Given the description of an element on the screen output the (x, y) to click on. 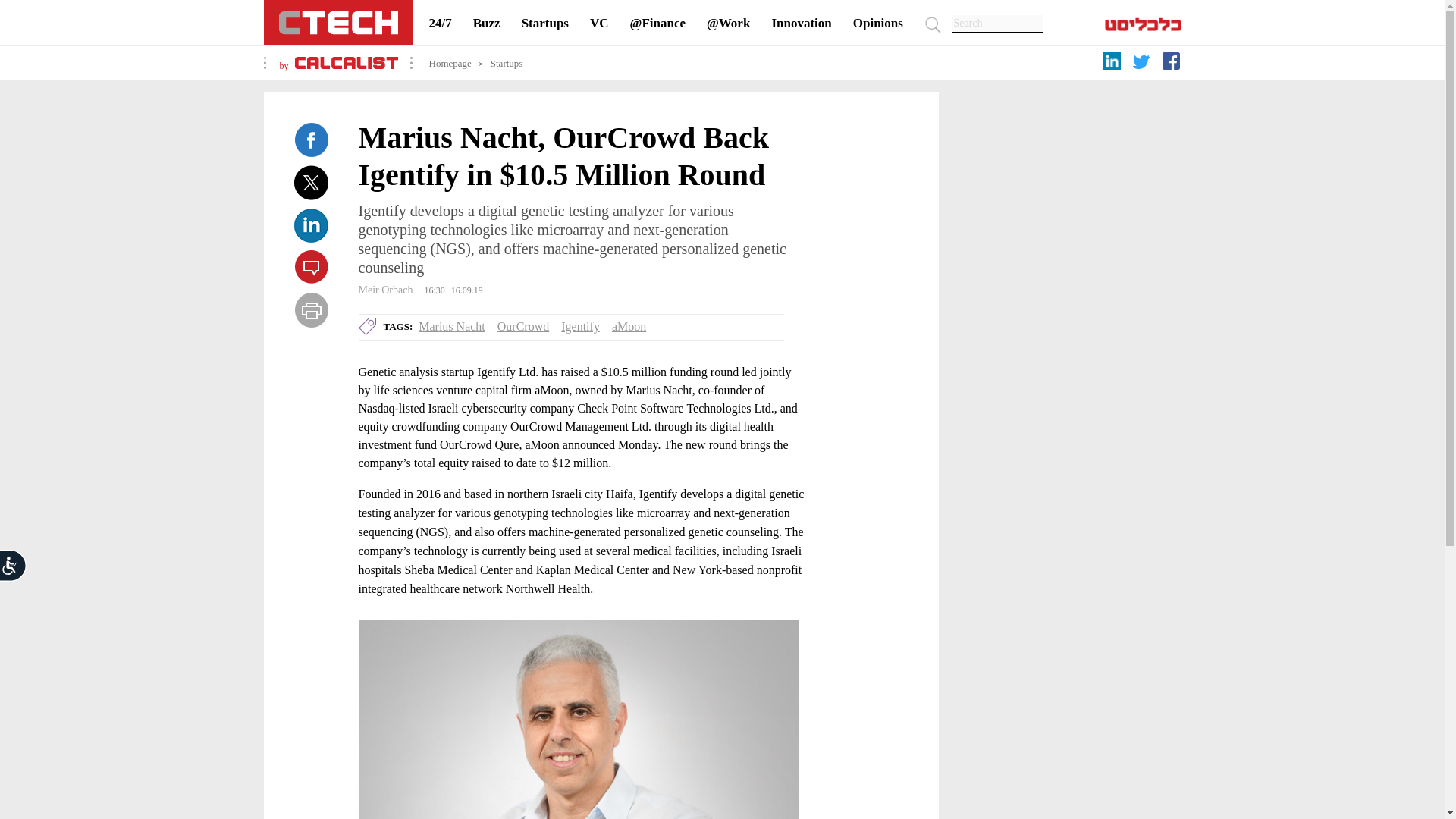
twitter (1144, 66)
calcalist (345, 65)
Opinions (877, 23)
Work (727, 23)
Talkback (311, 267)
aMoon (628, 326)
Buzz (486, 23)
Innovation (801, 23)
Finance (657, 23)
Twitter (311, 182)
